Given the description of an element on the screen output the (x, y) to click on. 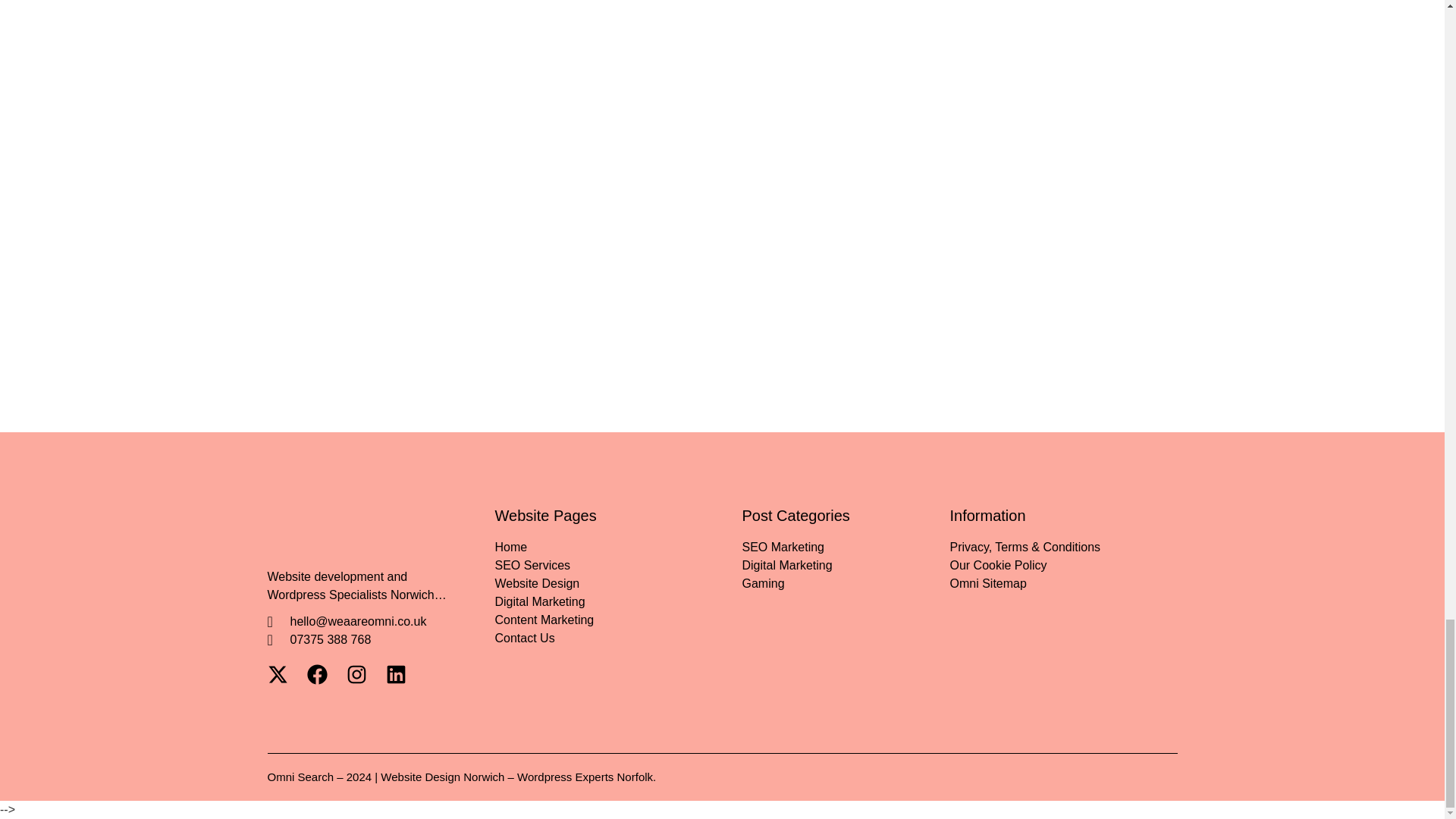
Website Design (618, 583)
Home (618, 547)
SEO Services (618, 565)
Digital Marketing (618, 601)
Post Comment (319, 329)
07375 388 768 (361, 639)
